Given the description of an element on the screen output the (x, y) to click on. 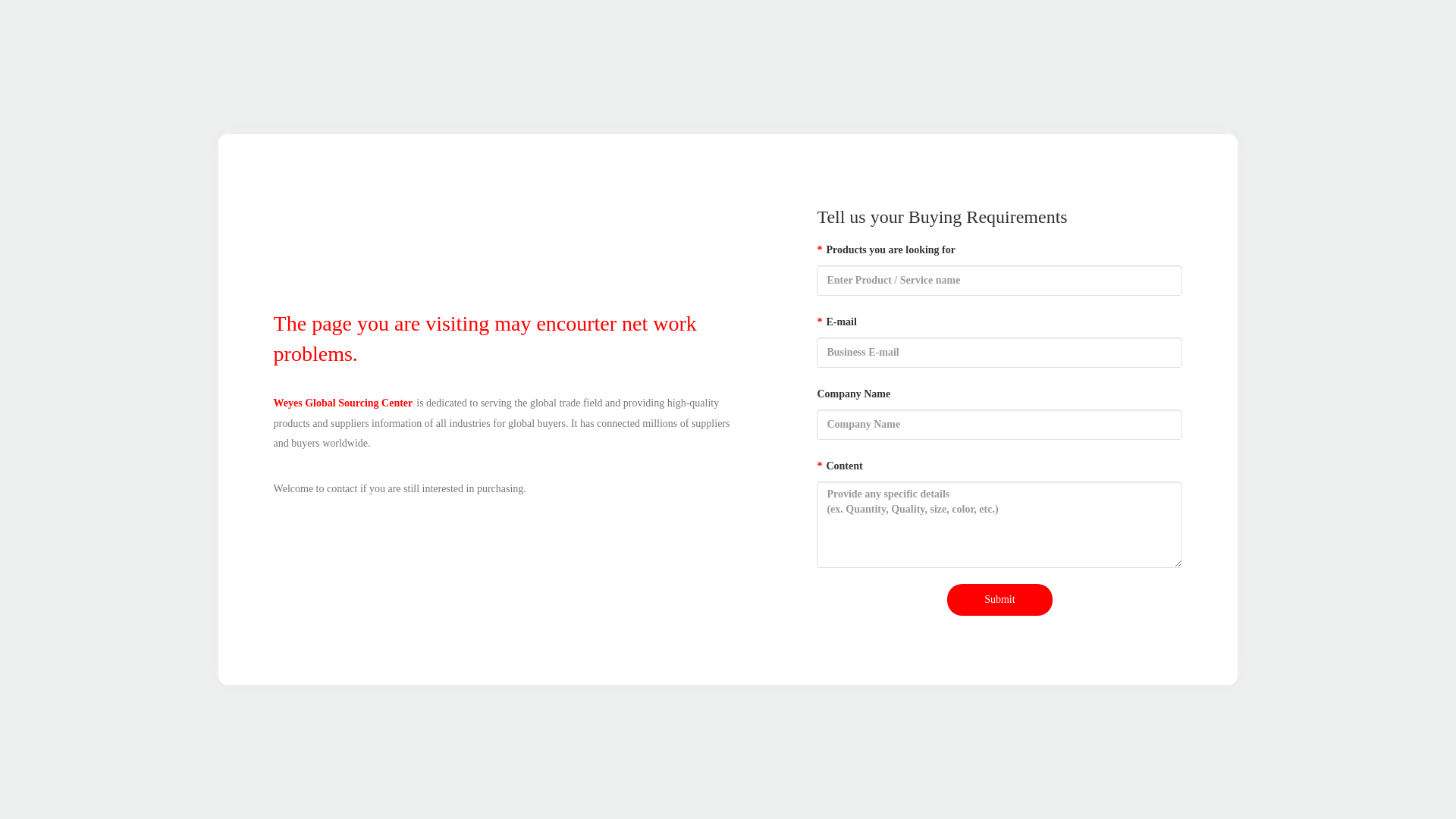
Submit (999, 599)
